Given the description of an element on the screen output the (x, y) to click on. 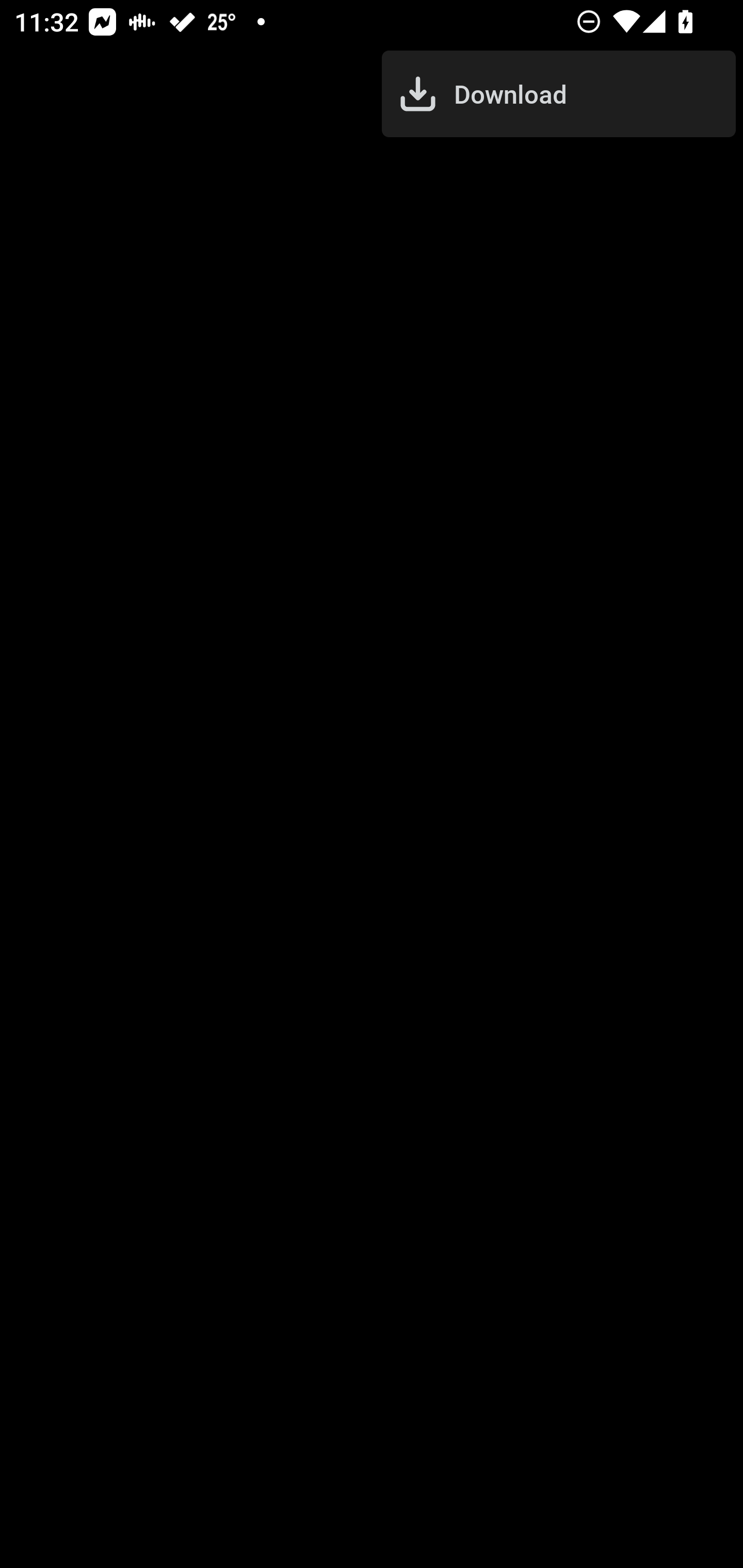
Download (558, 93)
